Given the description of an element on the screen output the (x, y) to click on. 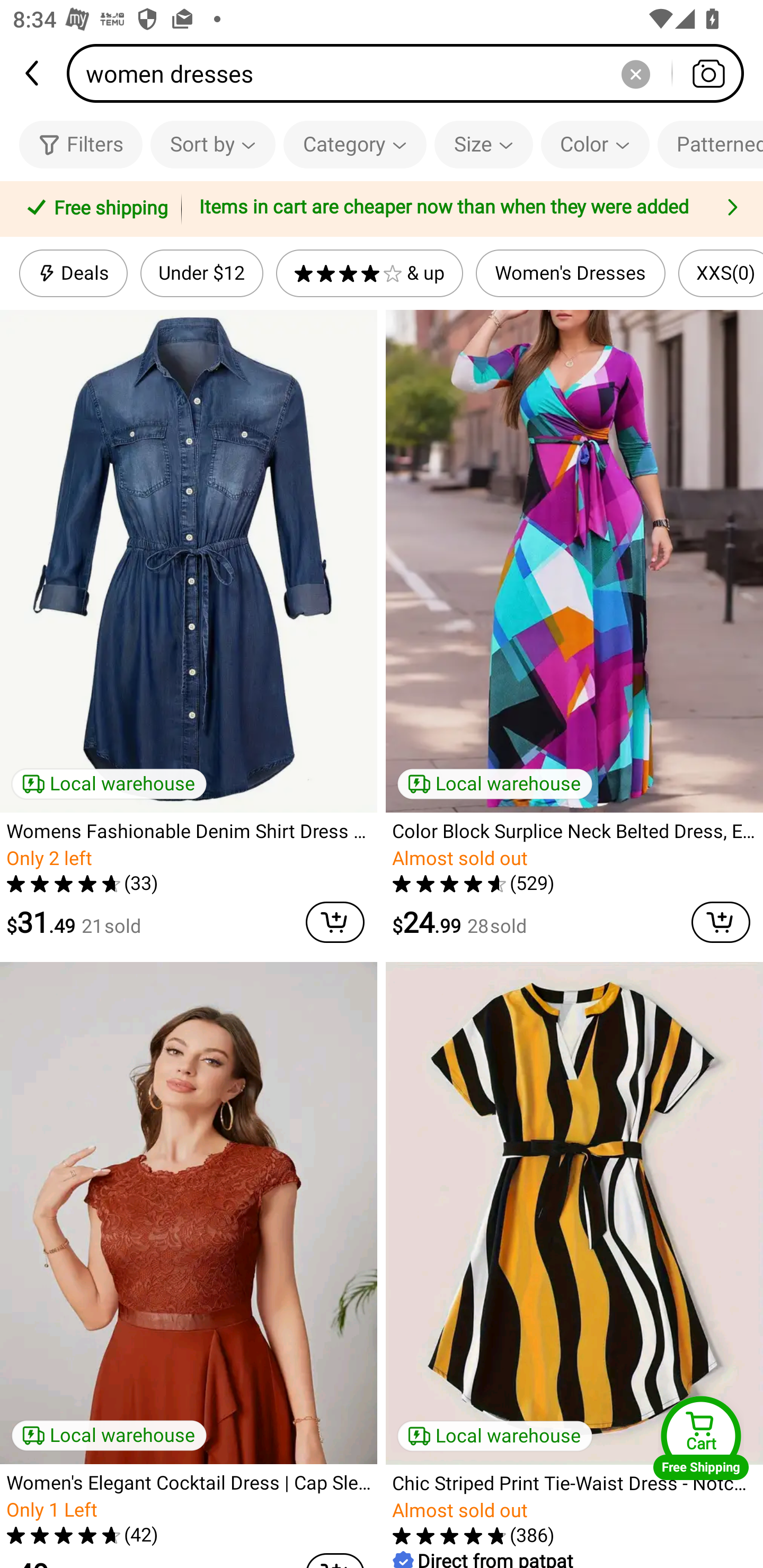
back (33, 72)
women dresses (411, 73)
Delete search history (635, 73)
Search by photo (708, 73)
Filters (80, 143)
Sort by (212, 143)
Category (354, 143)
Size (483, 143)
Color (594, 143)
Patterned (710, 143)
 Free shipping (93, 208)
Deals (73, 273)
Under $12 (201, 273)
& up (369, 273)
Women's Dresses (570, 273)
XXS(0) (720, 273)
Cart Free Shipping Cart (701, 1437)
